Given the description of an element on the screen output the (x, y) to click on. 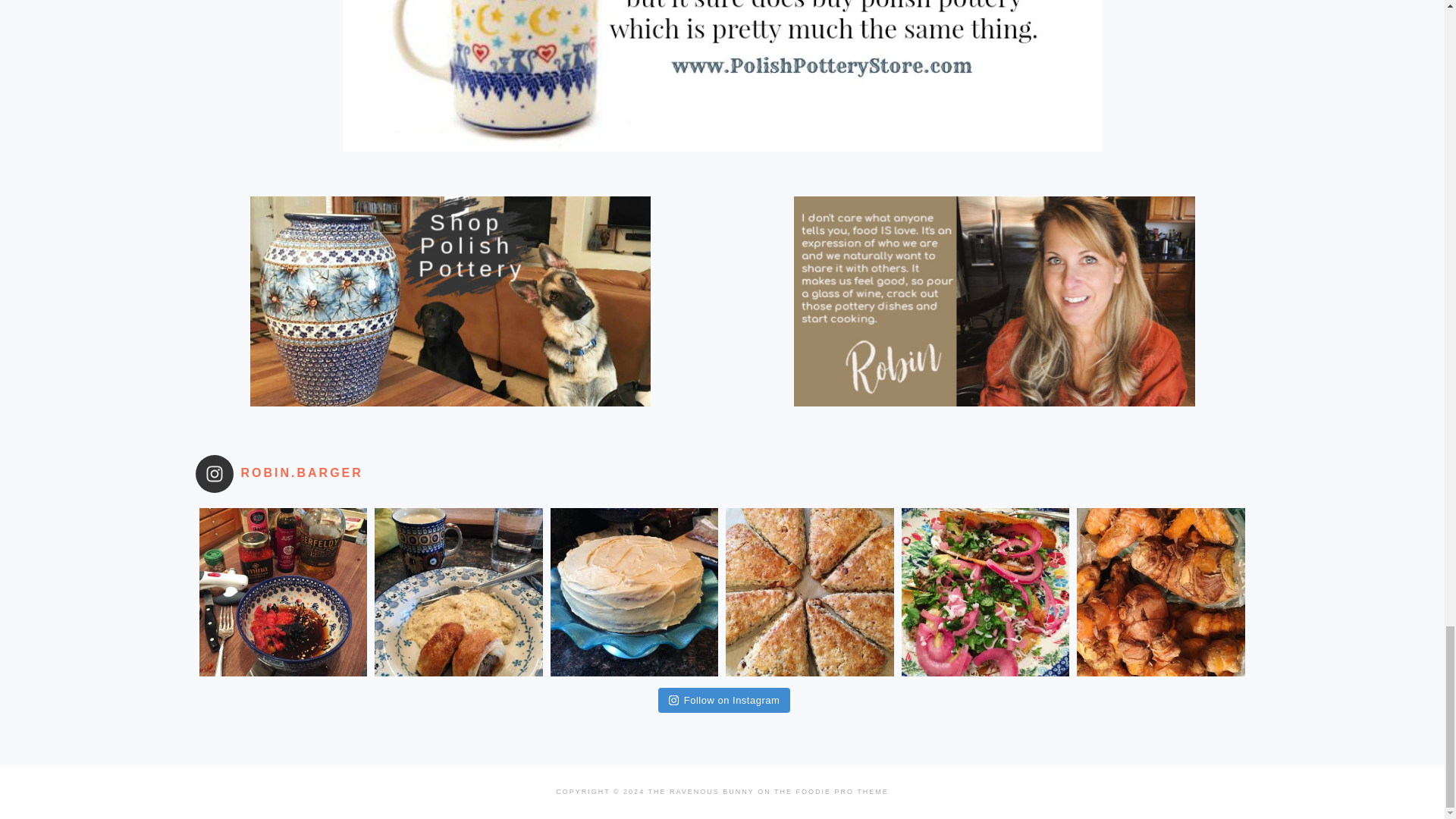
Stocking up on all the essentials before heading o (458, 591)
ROBIN.BARGER (298, 474)
Follow on Instagram (724, 700)
I need some help with this one. My grocery order a (1160, 591)
FOODIE PRO THEME (842, 791)
